Given the description of an element on the screen output the (x, y) to click on. 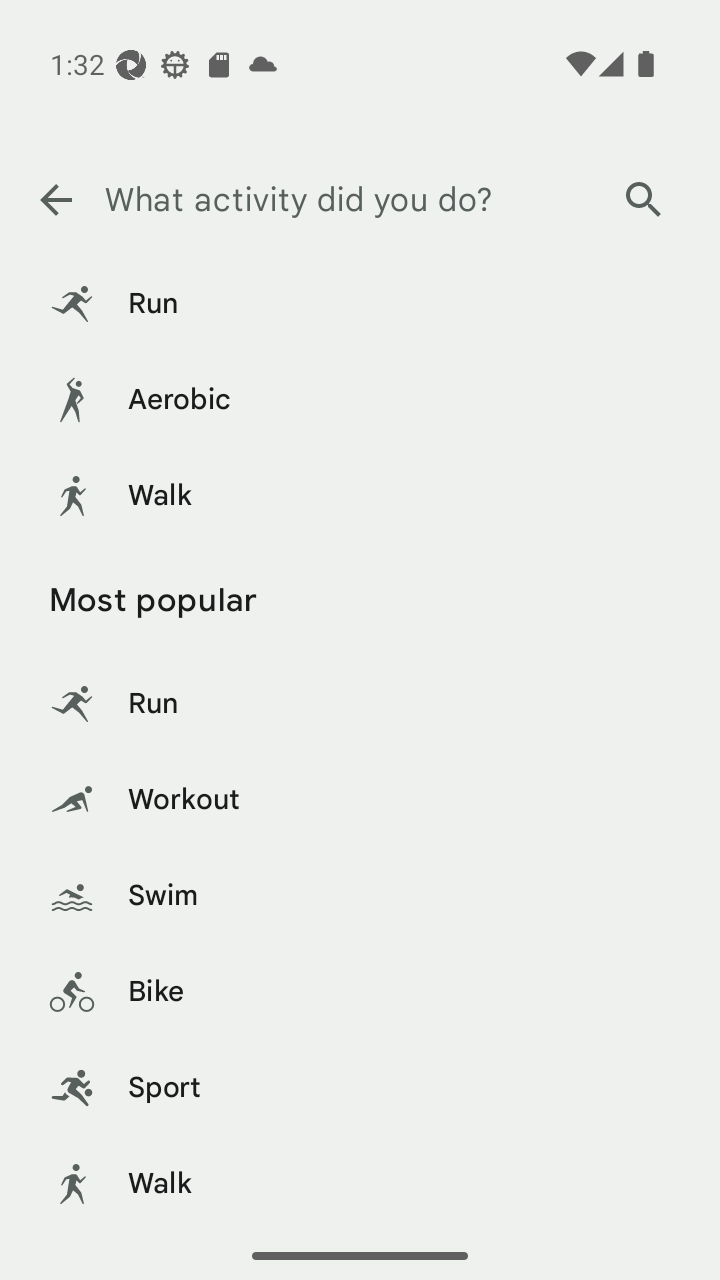
Search Back Search What activity did you do? (360, 199)
Back (55, 200)
Run (360, 304)
Aerobic (360, 400)
Walk (360, 496)
Run (360, 703)
Workout (360, 799)
Swim (360, 895)
Bike (360, 991)
Sport (360, 1087)
Walk (360, 1183)
